Given the description of an element on the screen output the (x, y) to click on. 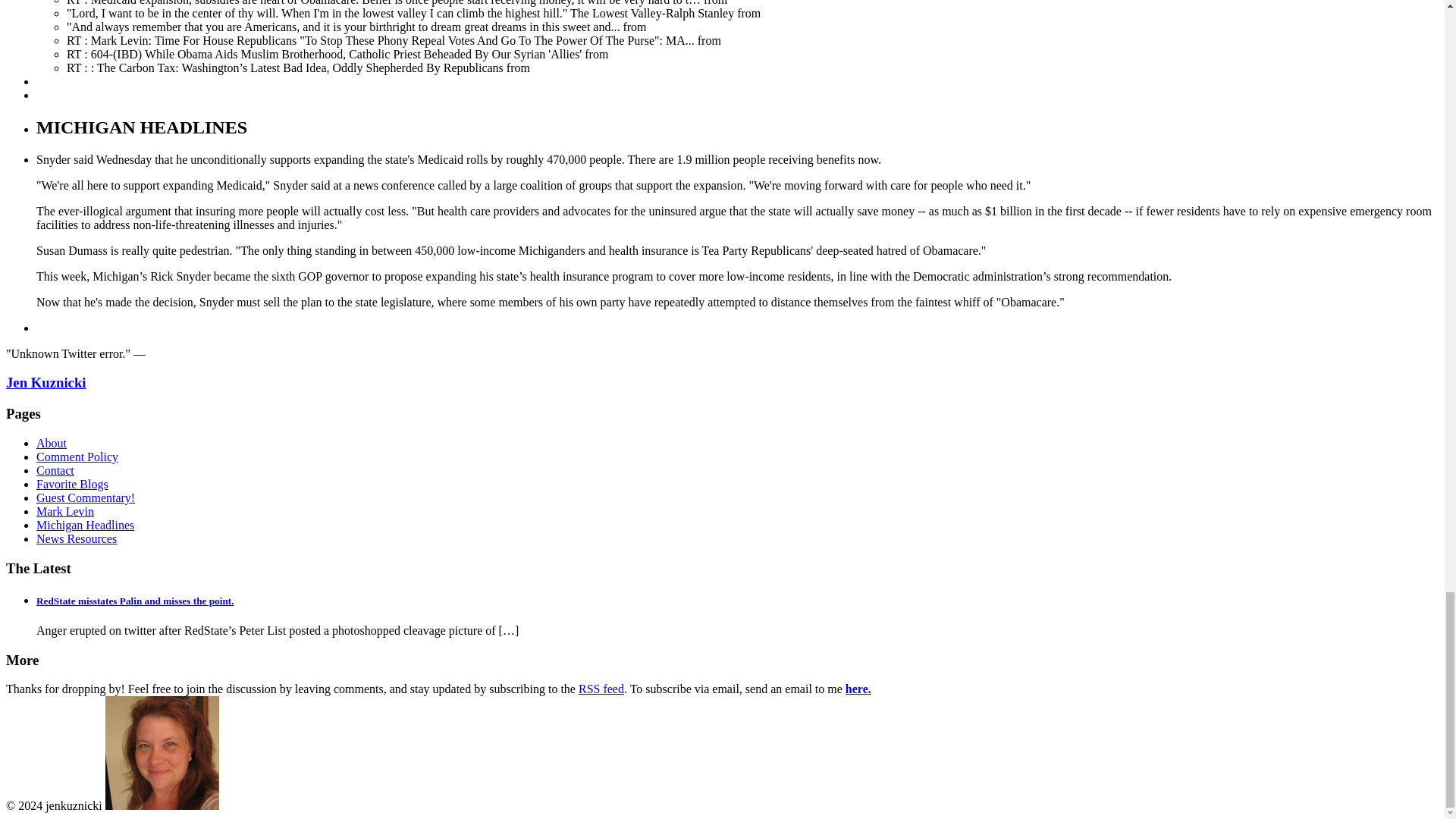
Jen Kuznicki (45, 382)
About (51, 442)
Favorite Blogs (71, 483)
Comment Policy (76, 456)
RedState misstates Palin and misses the point. (135, 600)
Contact (55, 470)
Mark Levin (65, 511)
Guest Commentary! (85, 497)
Michigan Headlines (84, 524)
News Resources (76, 538)
